Given the description of an element on the screen output the (x, y) to click on. 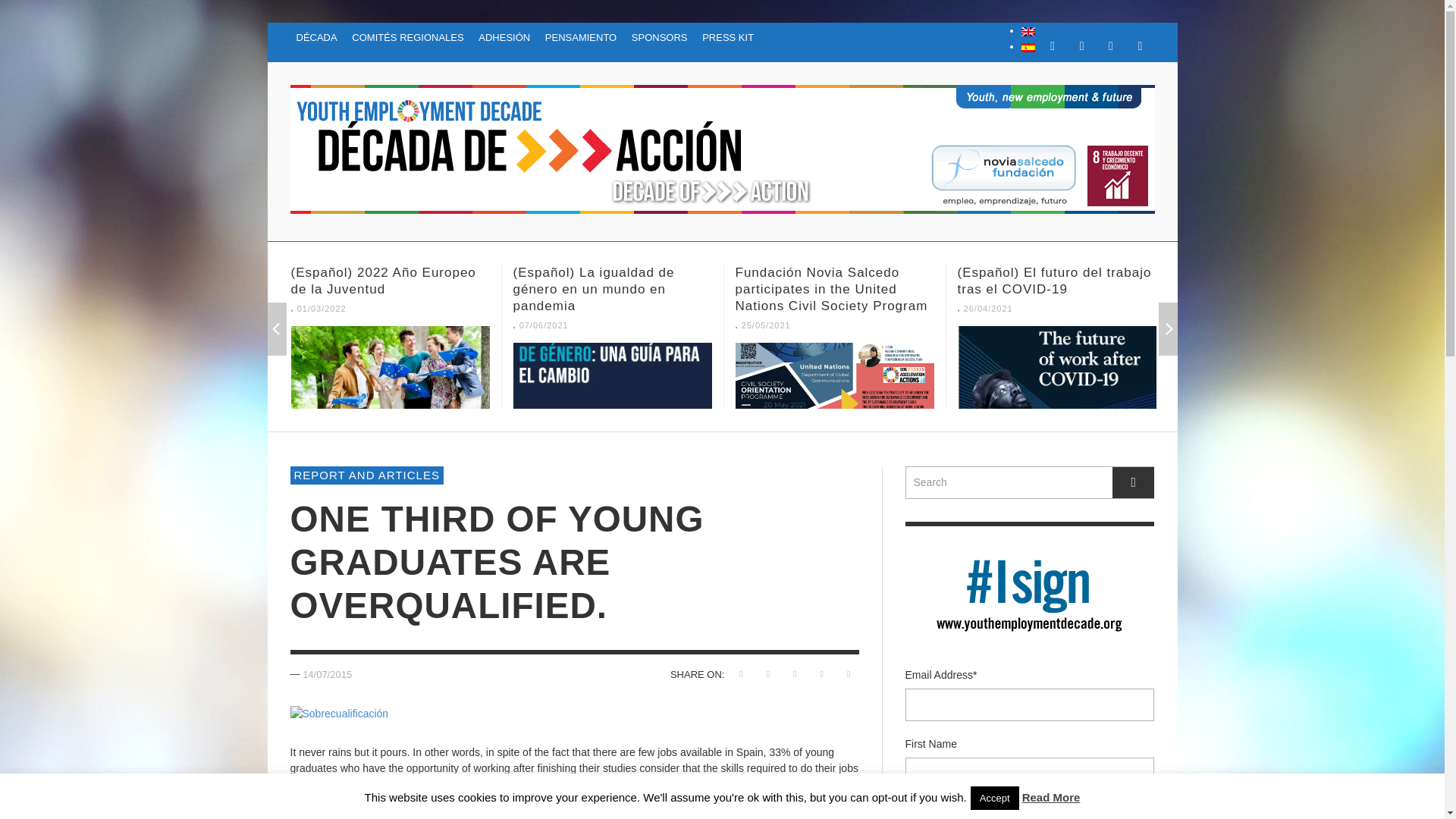
Search (1029, 482)
Twitter (1110, 46)
Facebook (1052, 46)
Youtube (1139, 46)
